Given the description of an element on the screen output the (x, y) to click on. 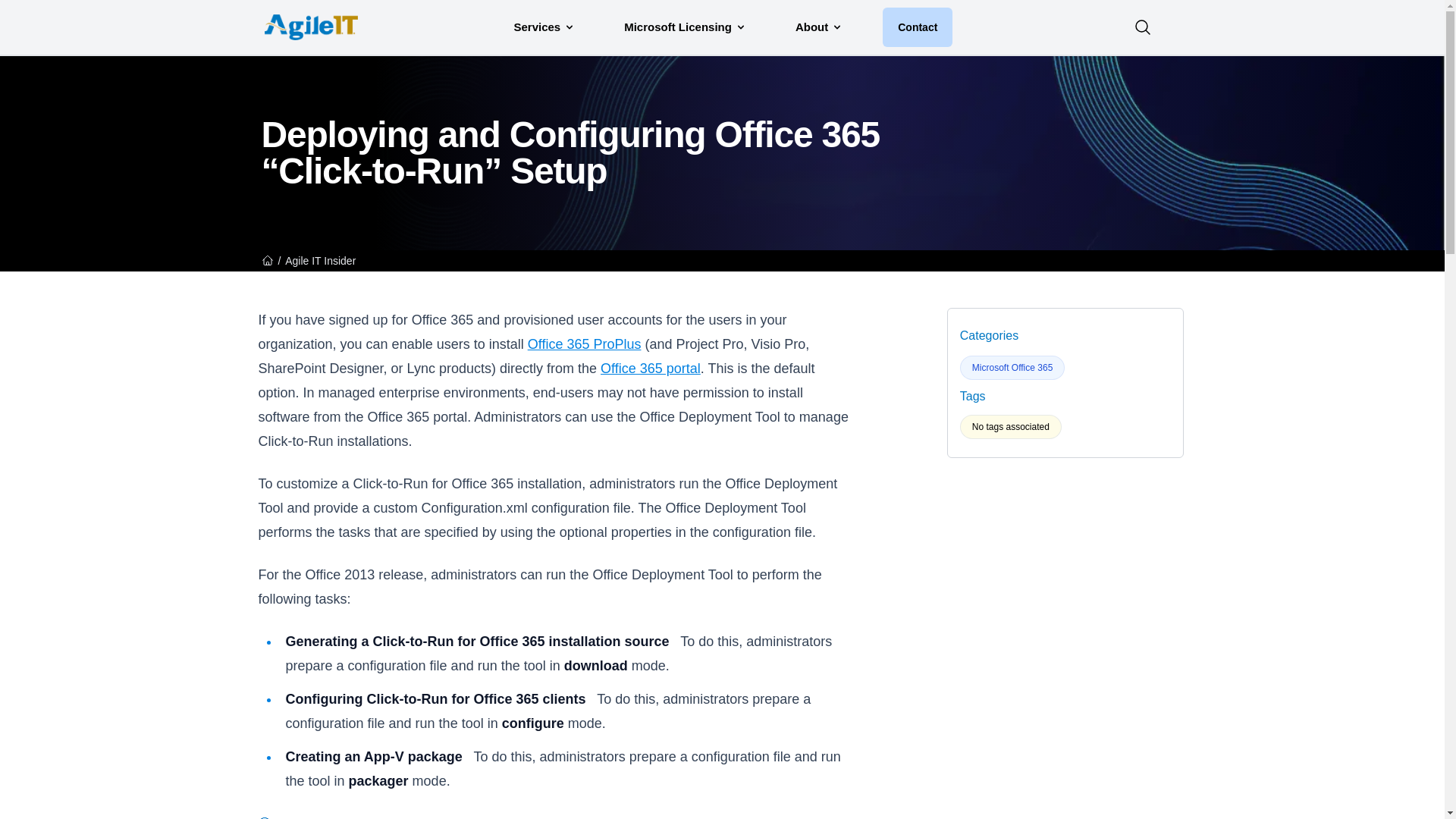
Agile IT Insider (320, 260)
Search (1142, 26)
Contact (917, 26)
Microsoft Licensing (684, 26)
Office 365 portal (649, 368)
Office 365 ProPlus (584, 344)
Services (544, 26)
About (818, 26)
